Given the description of an element on the screen output the (x, y) to click on. 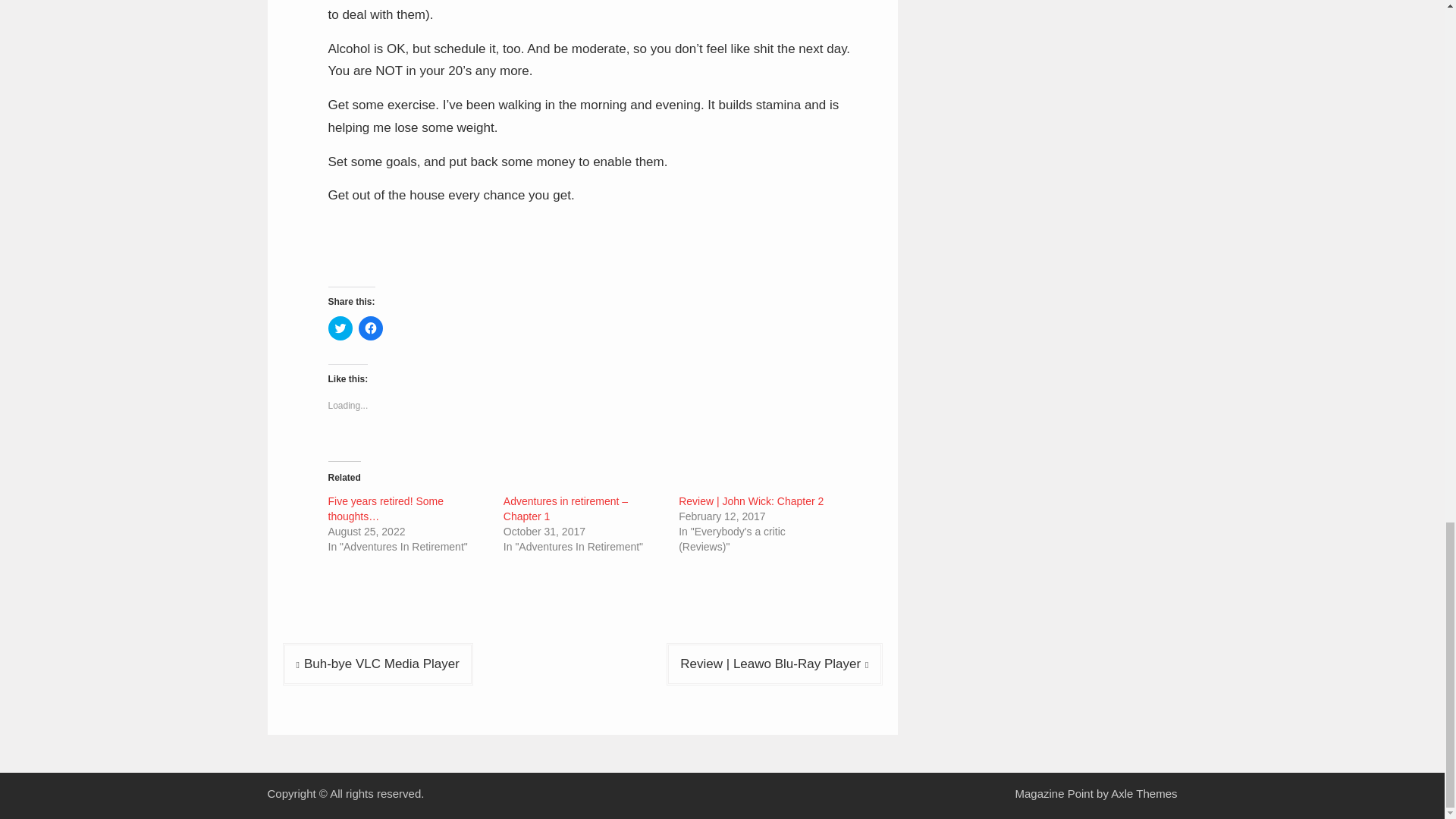
Buh-bye VLC Media Player (376, 663)
Click to share on Twitter (339, 328)
Click to share on Facebook (369, 328)
